Given the description of an element on the screen output the (x, y) to click on. 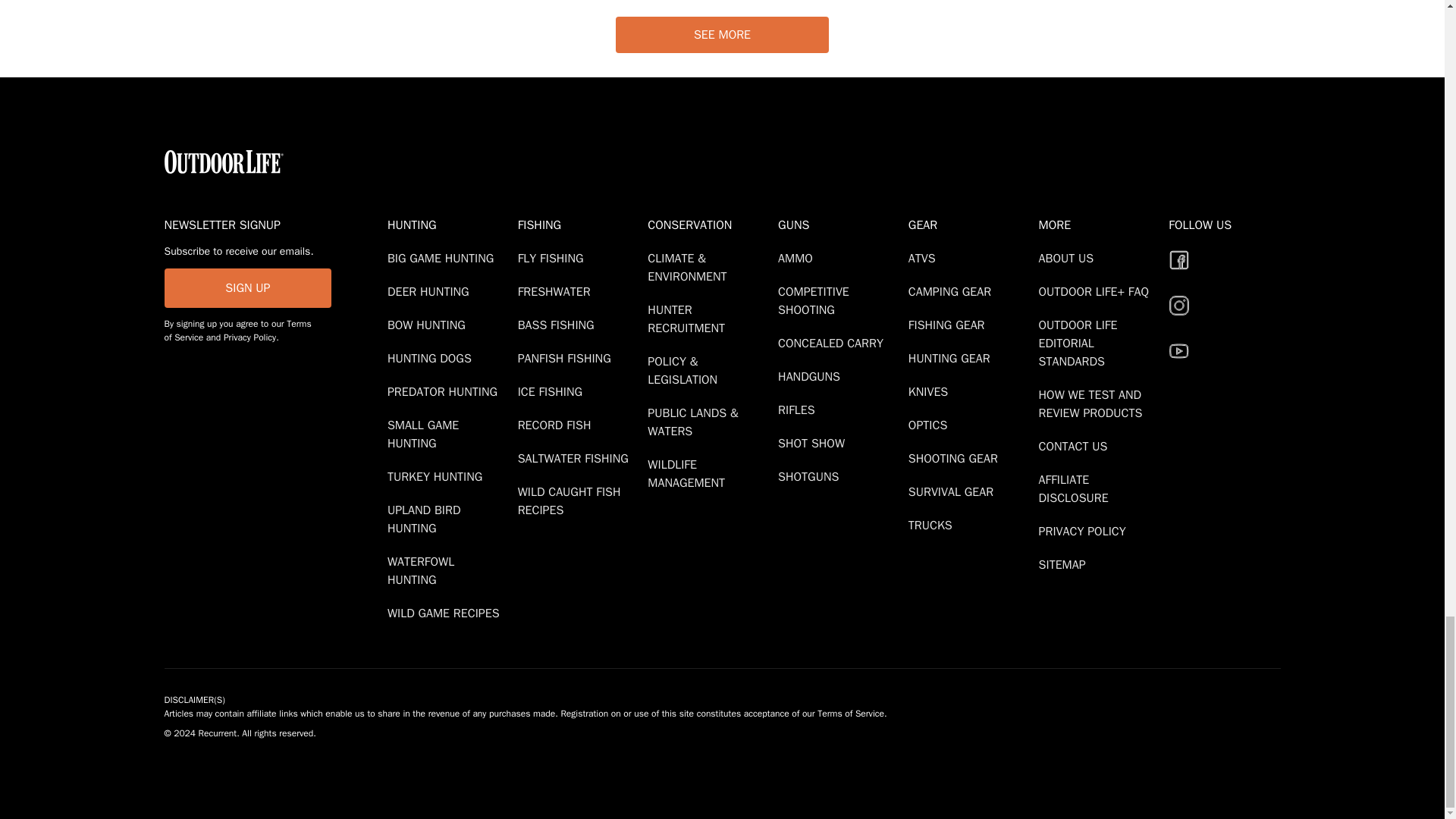
Fishing (580, 225)
Conservation (709, 225)
Big Game Hunting (443, 258)
Fly Fishing (553, 258)
Hunting (449, 225)
Deer Hunting (431, 291)
